Given the description of an element on the screen output the (x, y) to click on. 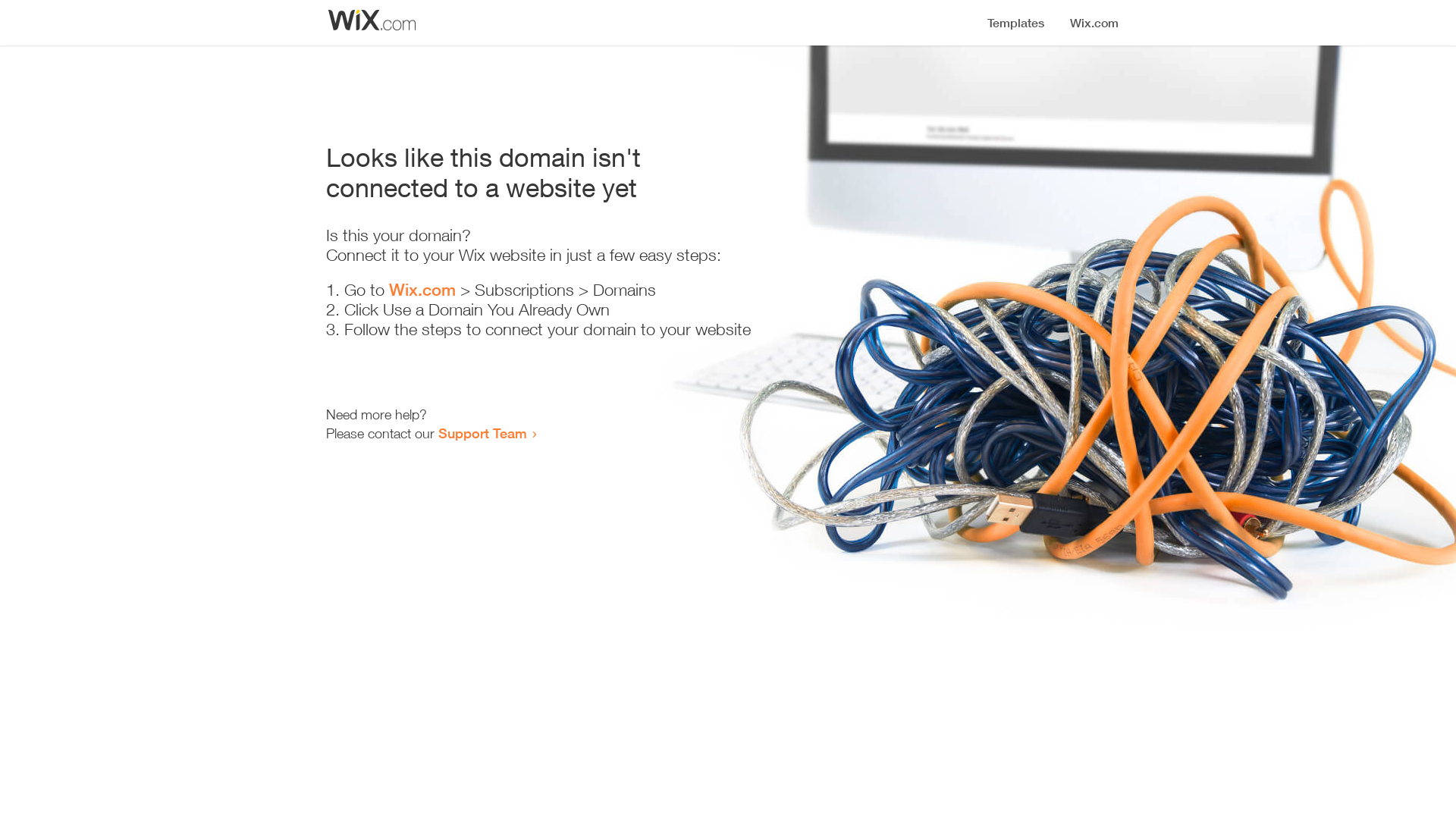
Wix.com Element type: text (422, 289)
Support Team Element type: text (482, 432)
